Given the description of an element on the screen output the (x, y) to click on. 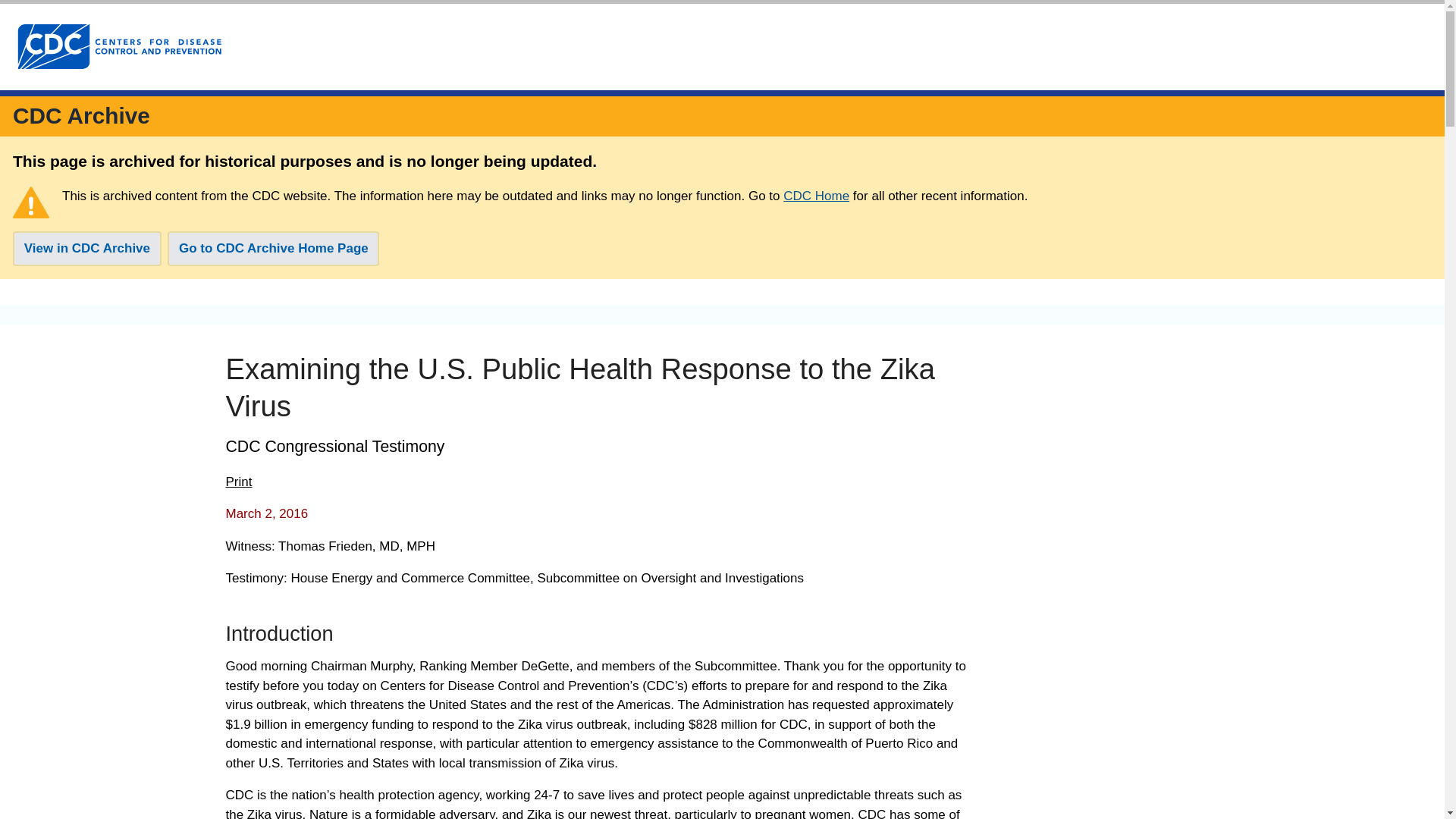
CDC Archive (81, 115)
Go to CDC Archive Home Page (272, 248)
View in CDC Archive (87, 248)
CDC Home (815, 196)
Print (238, 482)
CDC Archive Home (81, 115)
